Given the description of an element on the screen output the (x, y) to click on. 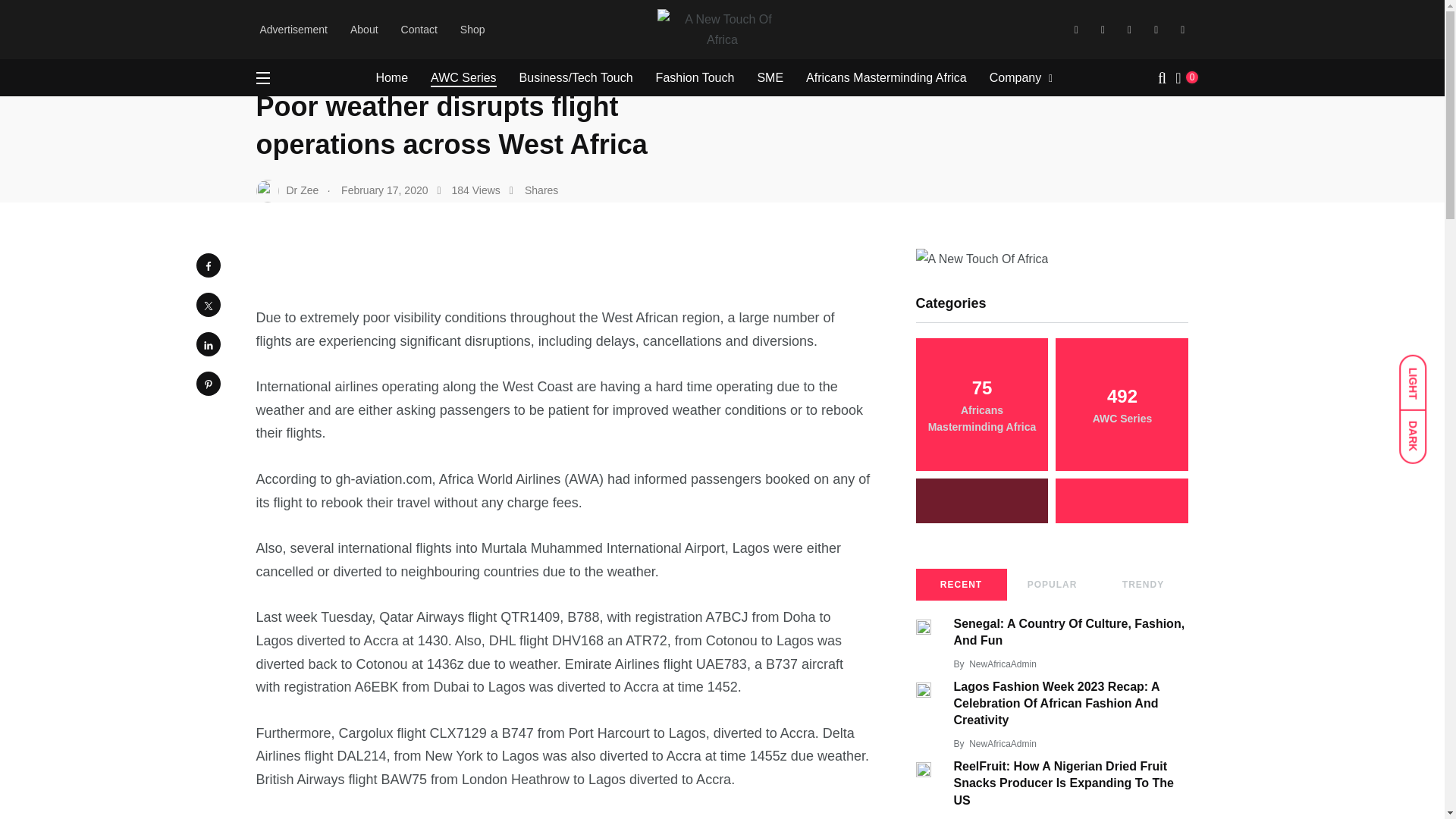
AWC Series (463, 77)
Africans Masterminding Africa (886, 77)
Fashion Touch (695, 77)
News (392, 23)
Go to the AWC Series Category archives. (452, 23)
Advertisement (292, 29)
About (364, 29)
Share on Facebook (207, 265)
Dark Mode (1419, 428)
A New Touch Of Africa (308, 23)
SME (770, 77)
Go to News. (392, 23)
Company (1015, 77)
Share on LinkedIn (207, 344)
Light Mode (1420, 375)
